Given the description of an element on the screen output the (x, y) to click on. 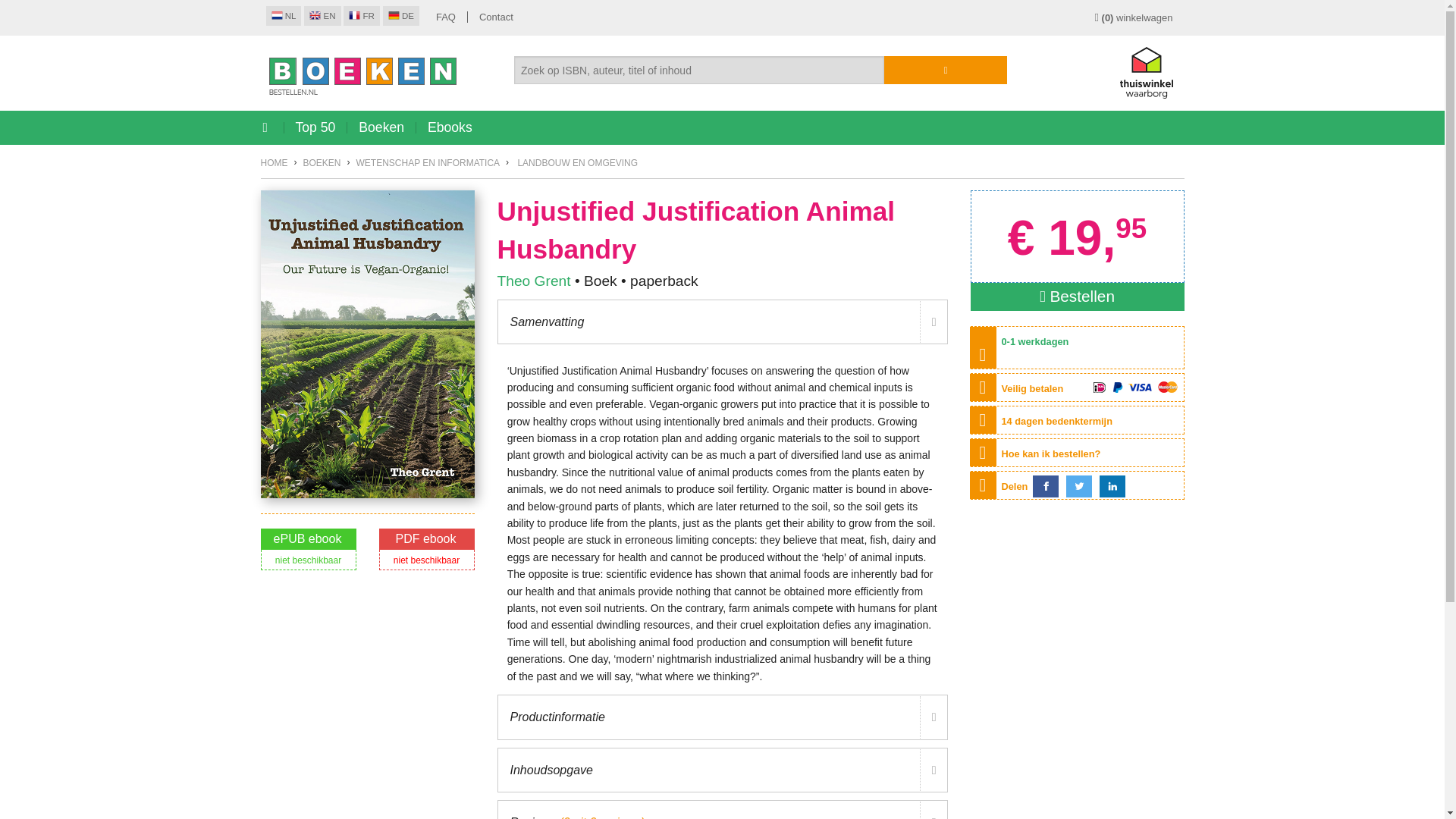
Home (274, 163)
Inhoudsopgave (722, 770)
Nederlands (282, 15)
BOEKEN (321, 163)
Hoe kan ik bestellen? (1050, 453)
Top 50 (314, 127)
WETENSCHAP EN INFORMATICA (428, 163)
LANDBOUW EN OMGEVING (576, 163)
meer boeken van Theo Grent (533, 280)
Boeken (380, 127)
Samenvatting (722, 321)
Theo Grent (533, 280)
Productinformatie (722, 717)
Ebooks (449, 127)
 FR (361, 15)
